Given the description of an element on the screen output the (x, y) to click on. 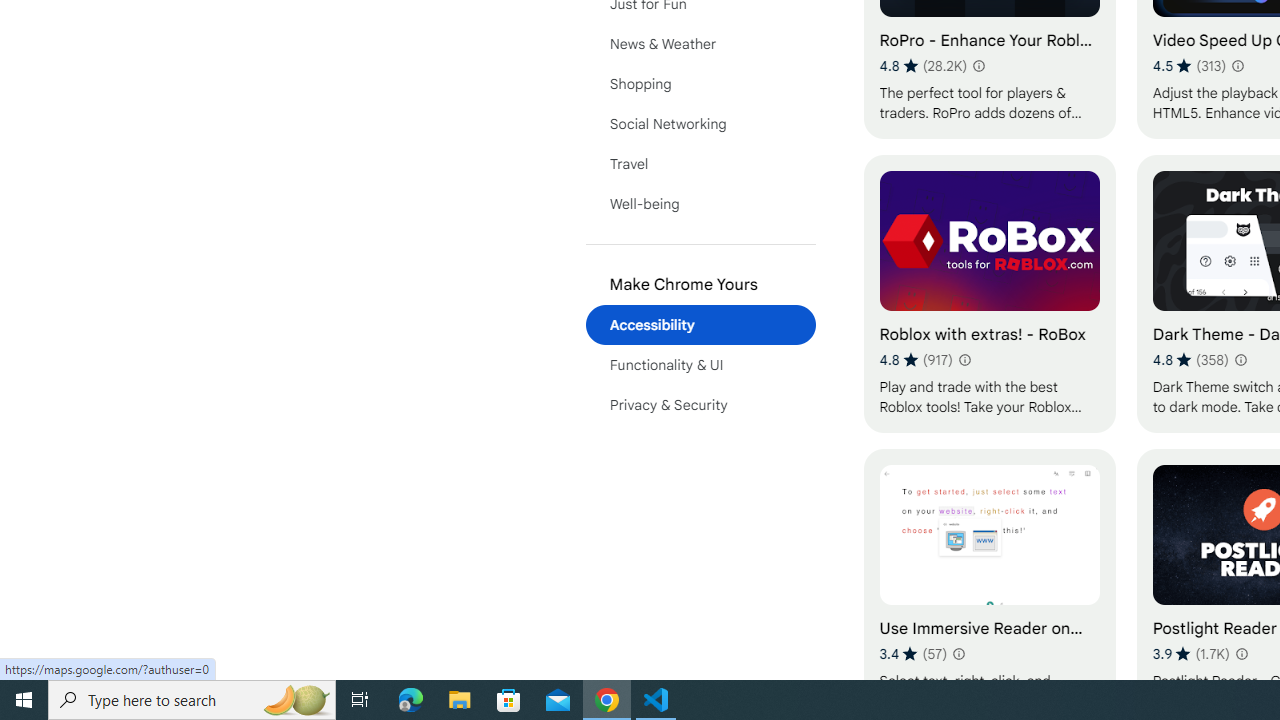
Well-being (700, 203)
Average rating 3.9 out of 5 stars. 1.7K ratings. (1191, 653)
Accessibility (selected) (700, 324)
Average rating 4.8 out of 5 stars. 358 ratings. (1190, 359)
Learn more about results and reviews "Postlight Reader" (1240, 654)
Social Networking (700, 123)
Average rating 4.5 out of 5 stars. 313 ratings. (1189, 66)
Average rating 3.4 out of 5 stars. 57 ratings. (913, 653)
Shopping (700, 83)
Travel (700, 164)
News & Weather (700, 43)
Average rating 4.8 out of 5 stars. 28.2K ratings. (923, 66)
Functionality & UI (700, 364)
Average rating 4.8 out of 5 stars. 917 ratings. (916, 359)
